Given the description of an element on the screen output the (x, y) to click on. 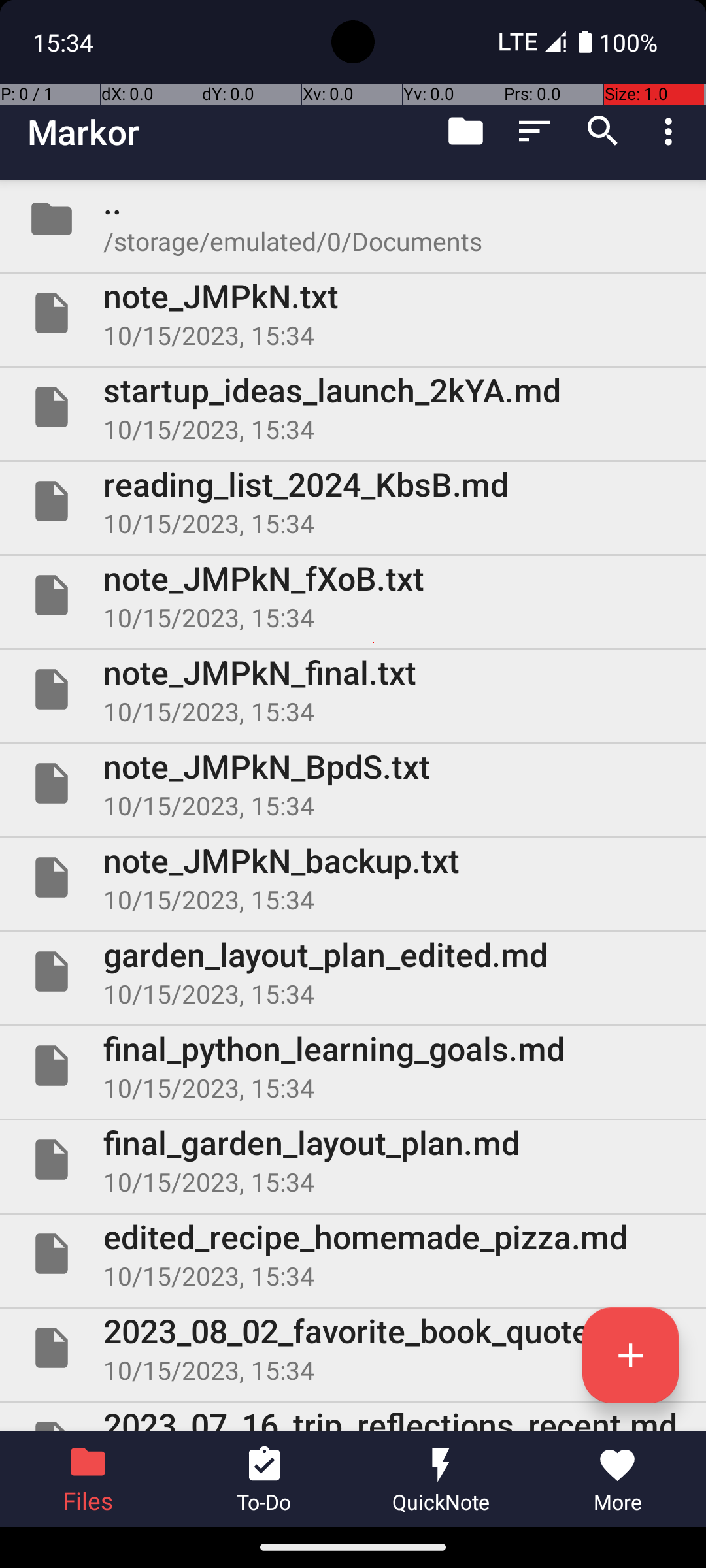
File note_JMPkN.txt  Element type: android.widget.LinearLayout (353, 312)
File startup_ideas_launch_2kYA.md  Element type: android.widget.LinearLayout (353, 406)
File reading_list_2024_KbsB.md  Element type: android.widget.LinearLayout (353, 500)
File note_JMPkN_fXoB.txt  Element type: android.widget.LinearLayout (353, 594)
File note_JMPkN_final.txt  Element type: android.widget.LinearLayout (353, 689)
File note_JMPkN_BpdS.txt  Element type: android.widget.LinearLayout (353, 783)
File note_JMPkN_backup.txt  Element type: android.widget.LinearLayout (353, 877)
File garden_layout_plan_edited.md  Element type: android.widget.LinearLayout (353, 971)
File final_python_learning_goals.md  Element type: android.widget.LinearLayout (353, 1065)
File final_garden_layout_plan.md  Element type: android.widget.LinearLayout (353, 1159)
File edited_recipe_homemade_pizza.md  Element type: android.widget.LinearLayout (353, 1253)
File 2023_08_02_favorite_book_quotes.md  Element type: android.widget.LinearLayout (353, 1347)
File 2023_07_16_trip_reflections_recent.md  Element type: android.widget.LinearLayout (353, 1416)
